Given the description of an element on the screen output the (x, y) to click on. 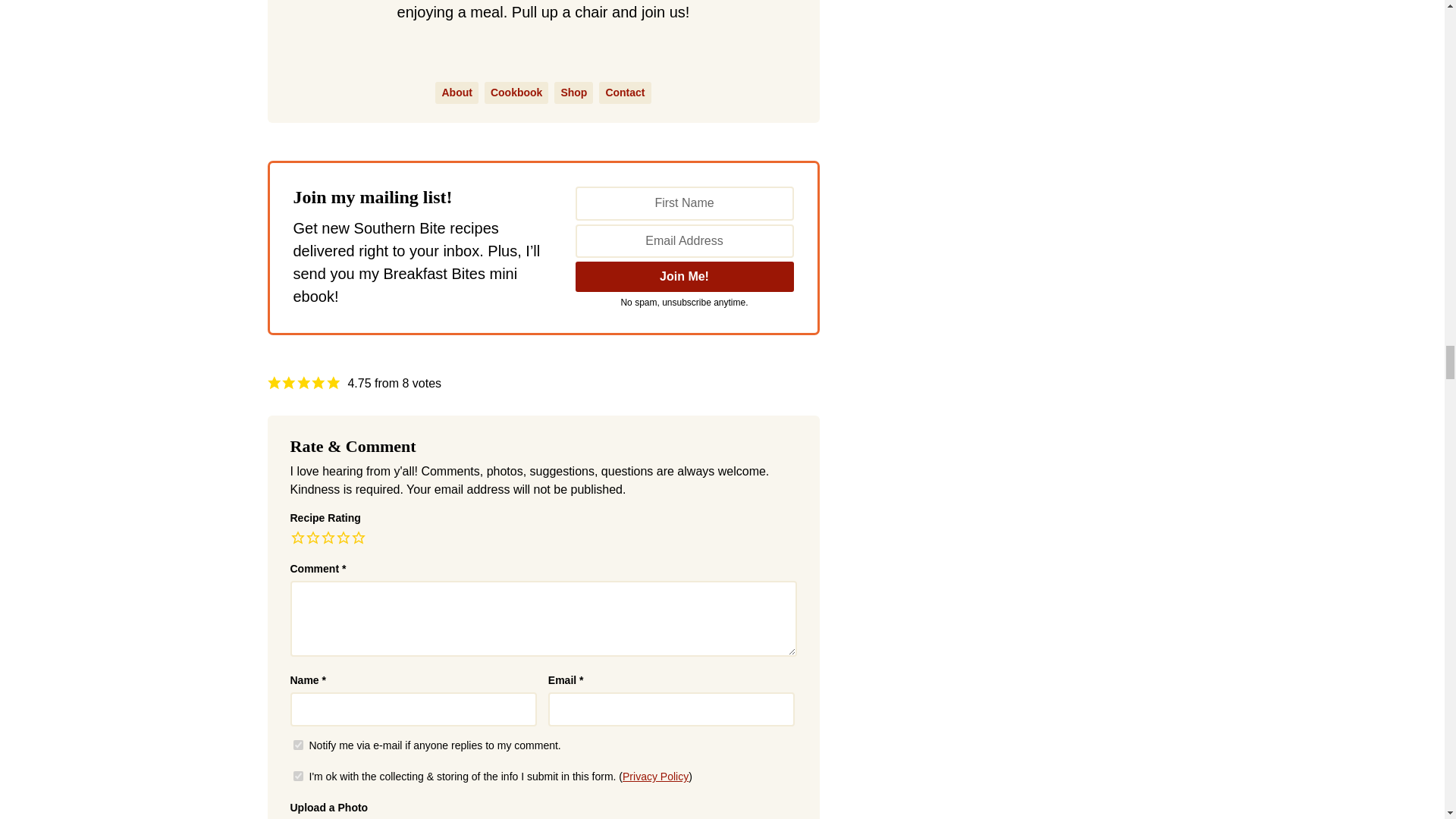
Join Me! (684, 276)
on (297, 745)
yes (297, 776)
Privacy Policy (655, 776)
